Given the description of an element on the screen output the (x, y) to click on. 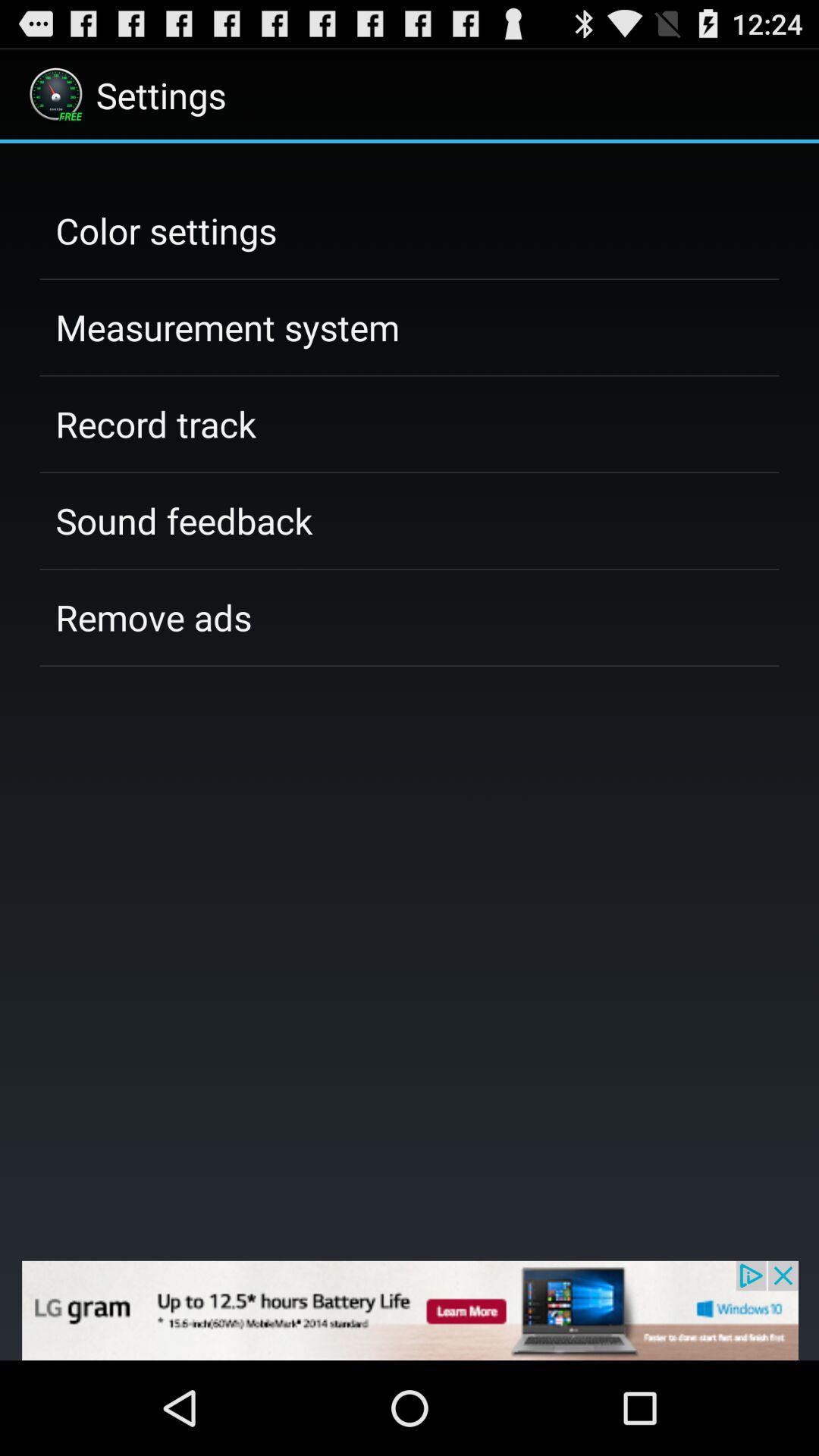
toggle advertisement (409, 1310)
